Given the description of an element on the screen output the (x, y) to click on. 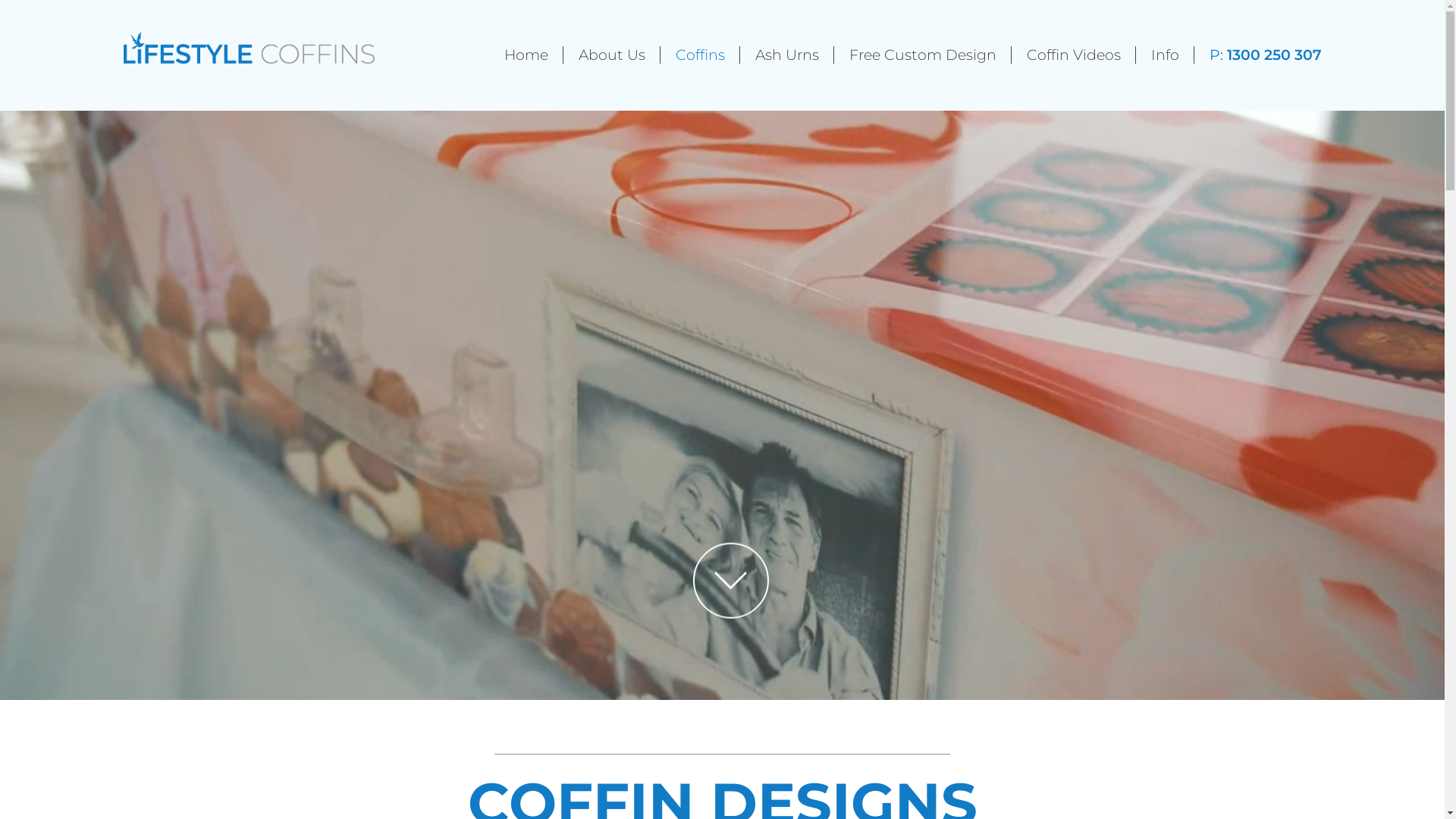
About Us Element type: text (610, 55)
Home Element type: text (525, 55)
Coffin Videos Element type: text (1073, 55)
P: 1300 250 307 Element type: text (1264, 55)
Free Custom Design Element type: text (922, 55)
Info Element type: text (1164, 55)
Ash Urns Element type: text (787, 55)
Coffins Element type: text (699, 55)
